Given the description of an element on the screen output the (x, y) to click on. 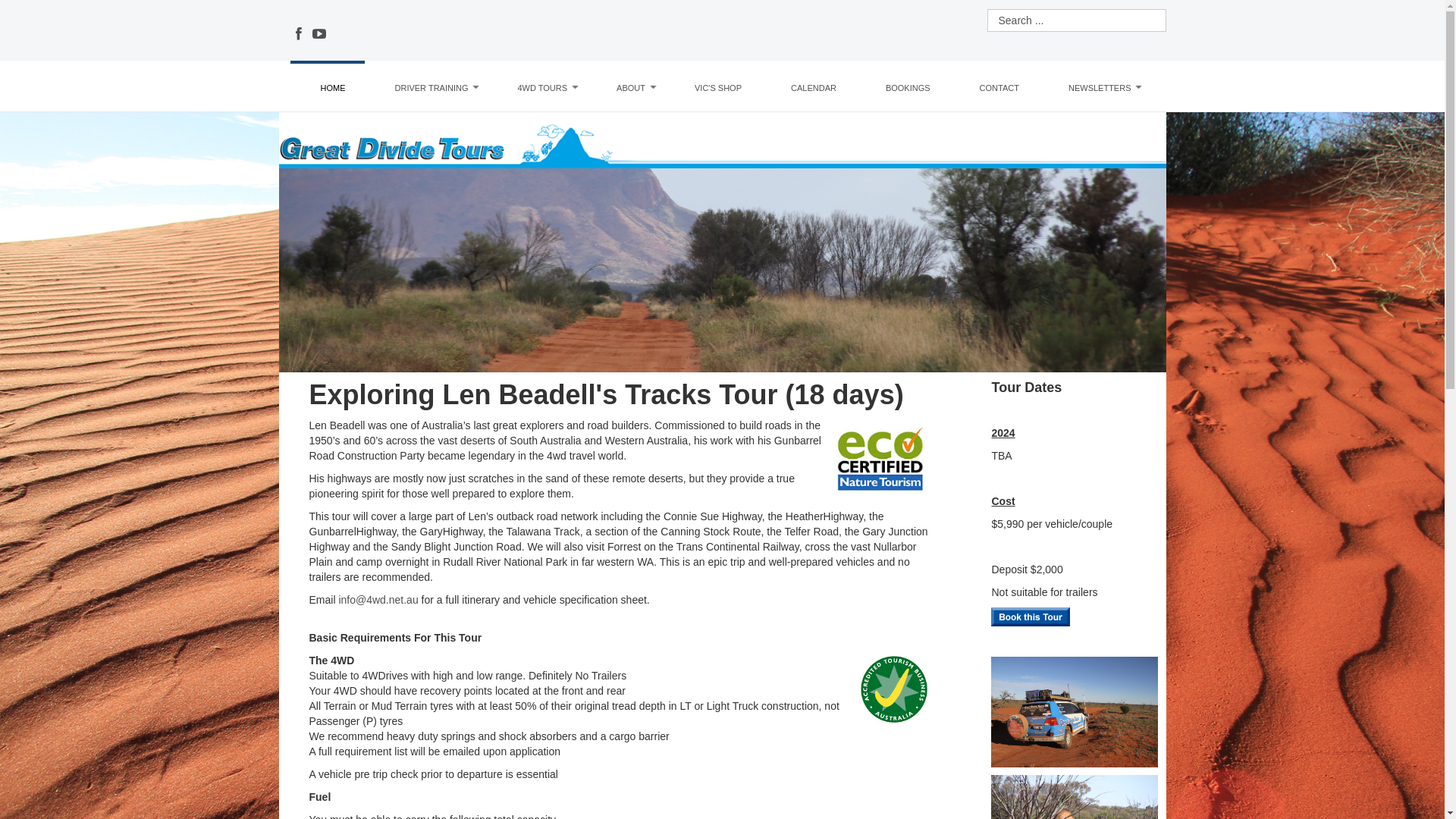
BOOKINGS Element type: text (907, 87)
info@4wd.net.au Element type: text (377, 599)
NEWSLETTERS Element type: text (1099, 87)
4WD TOURS Element type: text (541, 87)
CALENDAR Element type: text (813, 87)
VIC'S SHOP Element type: text (718, 87)
CONTACT Element type: text (999, 87)
DRIVER TRAINING Element type: text (431, 87)
HOME Element type: text (333, 87)
ABOUT Element type: text (630, 87)
